Given the description of an element on the screen output the (x, y) to click on. 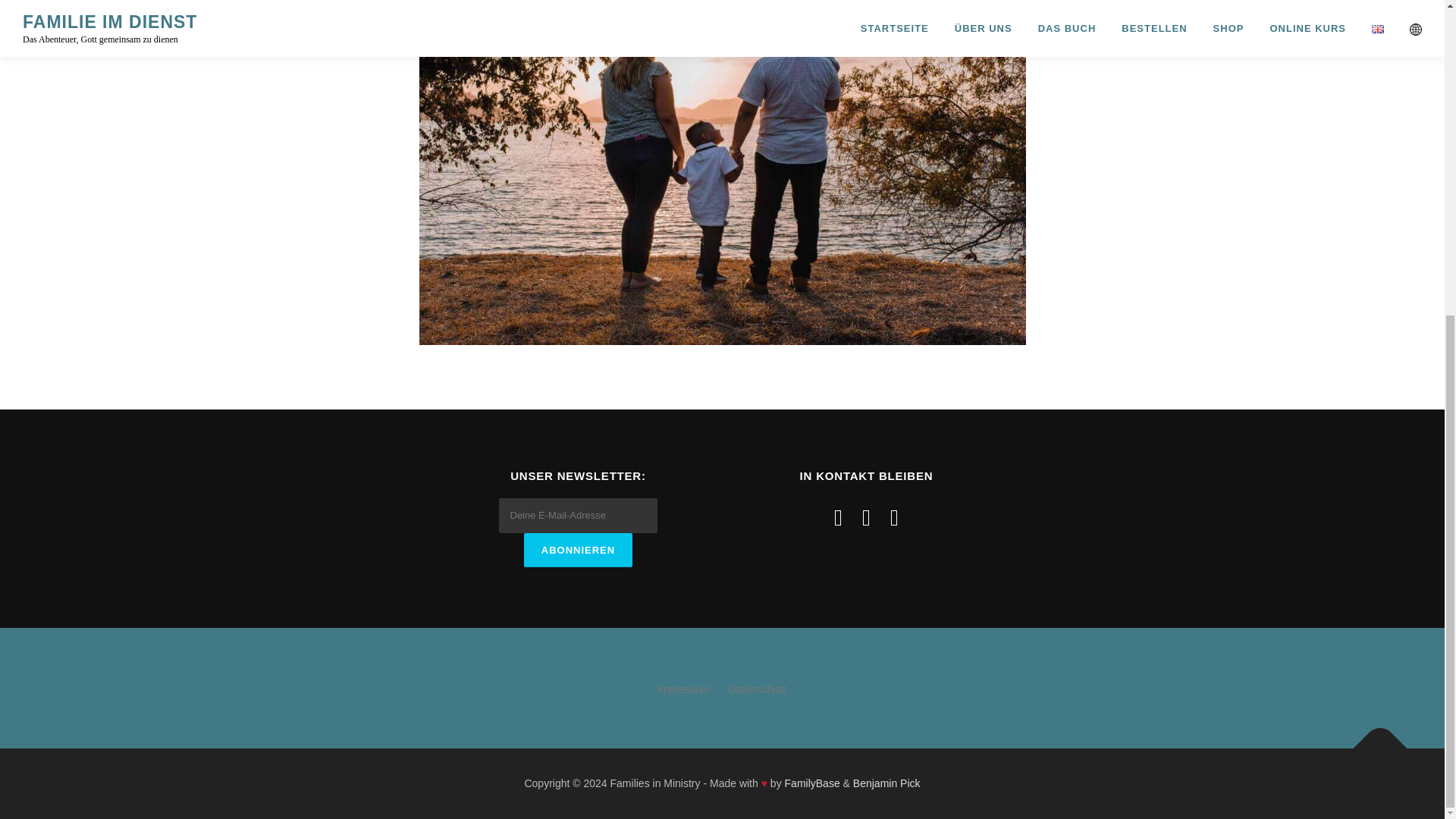
Abonnieren (577, 550)
Impressum (684, 689)
Datenschutz (757, 689)
Nach Oben (1372, 740)
Benjamin Pick (886, 783)
FamilyBase (812, 783)
Abonnieren (577, 550)
